Given the description of an element on the screen output the (x, y) to click on. 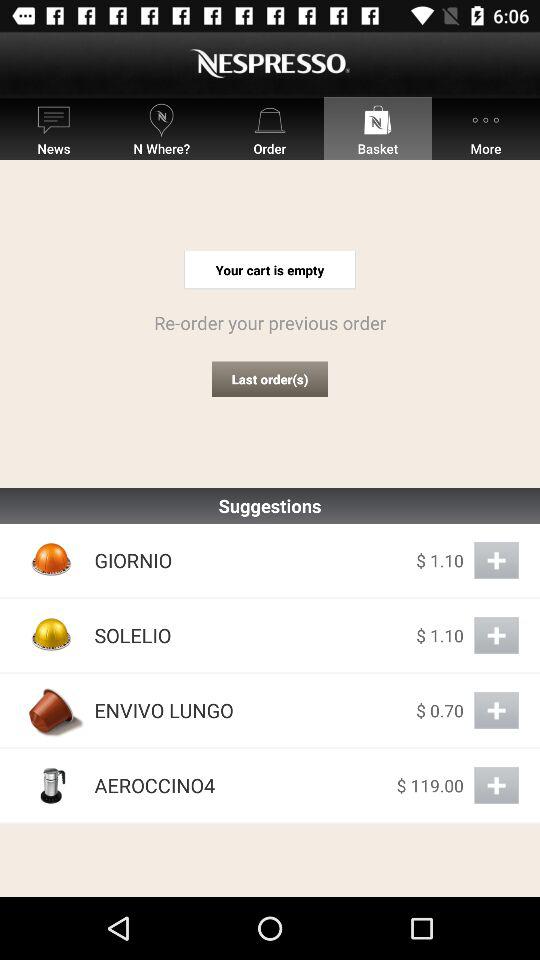
add suggestet maschine (496, 785)
